Given the description of an element on the screen output the (x, y) to click on. 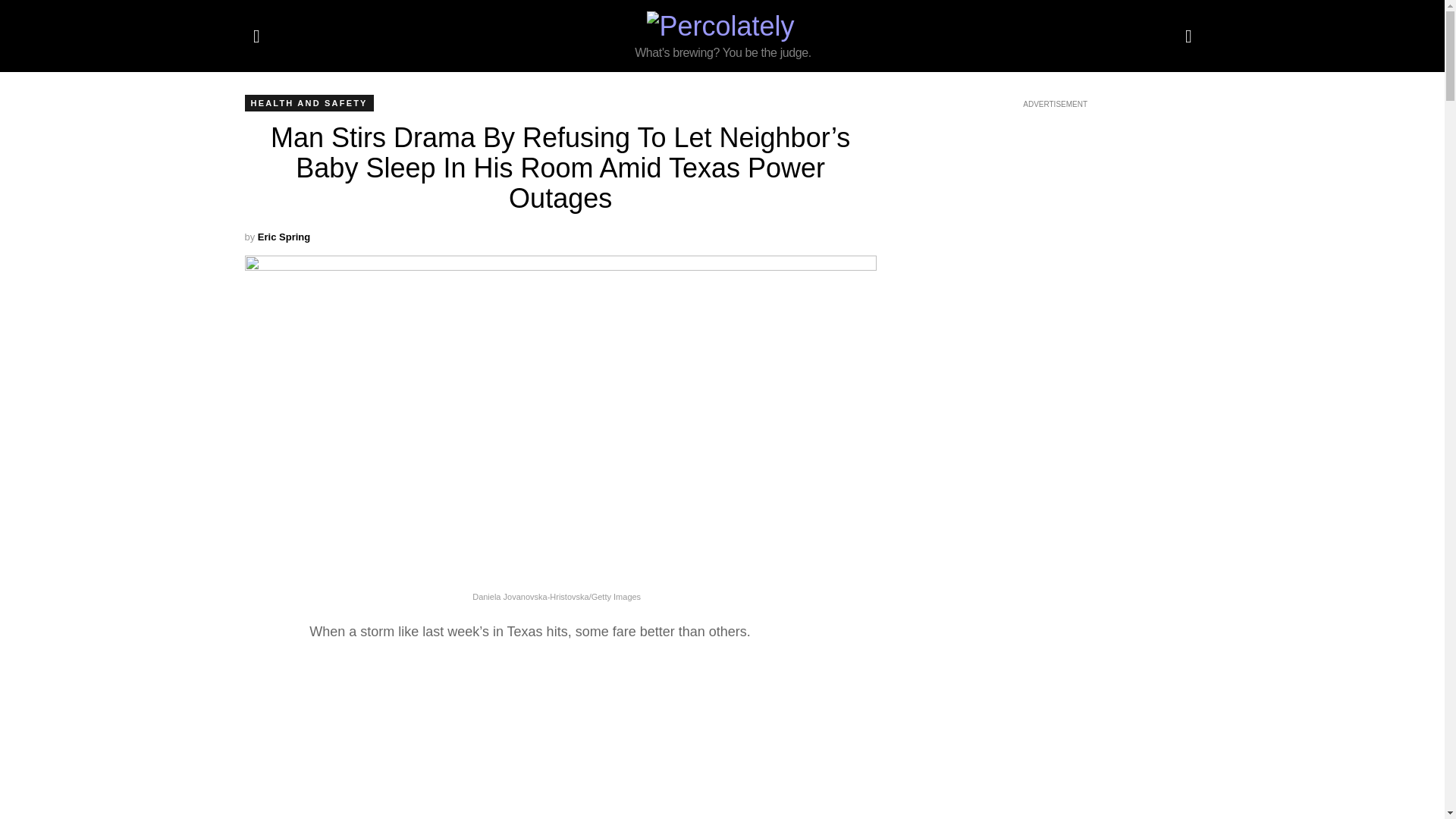
Posts by Eric Spring (283, 236)
Eric Spring (283, 236)
HEALTH AND SAFETY (308, 103)
